Given the description of an element on the screen output the (x, y) to click on. 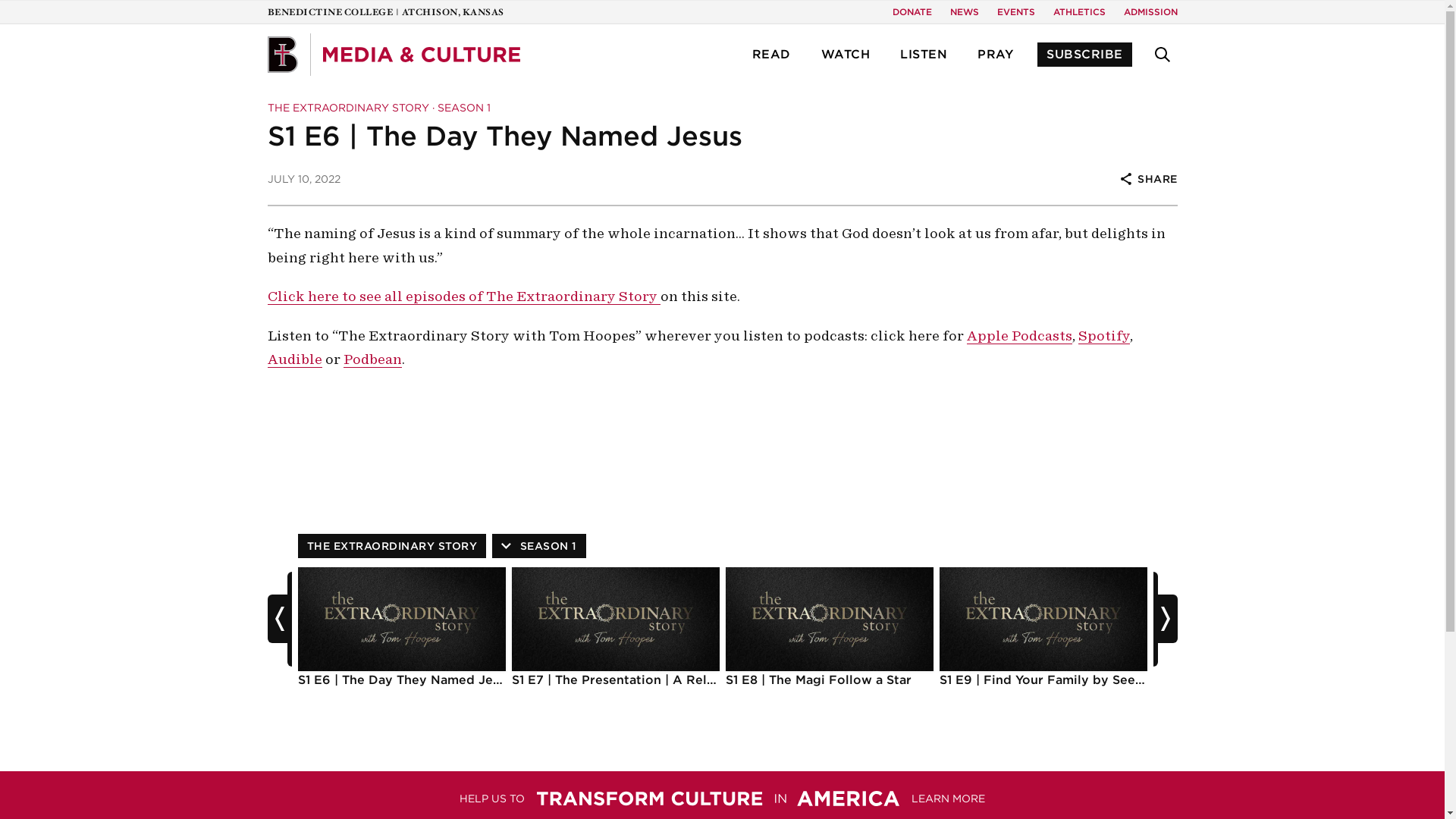
Season 1 (462, 107)
SEASON 1 (462, 107)
Click here to see all episodes of The Extraordinary Story (462, 296)
THE EXTRAORDINARY STORY (391, 545)
WATCH (845, 54)
NEWS (963, 11)
Previous (278, 618)
LISTEN (923, 54)
Apple Podcasts (1018, 335)
ADMISSION (1150, 11)
Podbean (371, 359)
READ (771, 54)
The Extraordinary Story (391, 545)
DONATE (911, 11)
ATHLETICS (1078, 11)
